Given the description of an element on the screen output the (x, y) to click on. 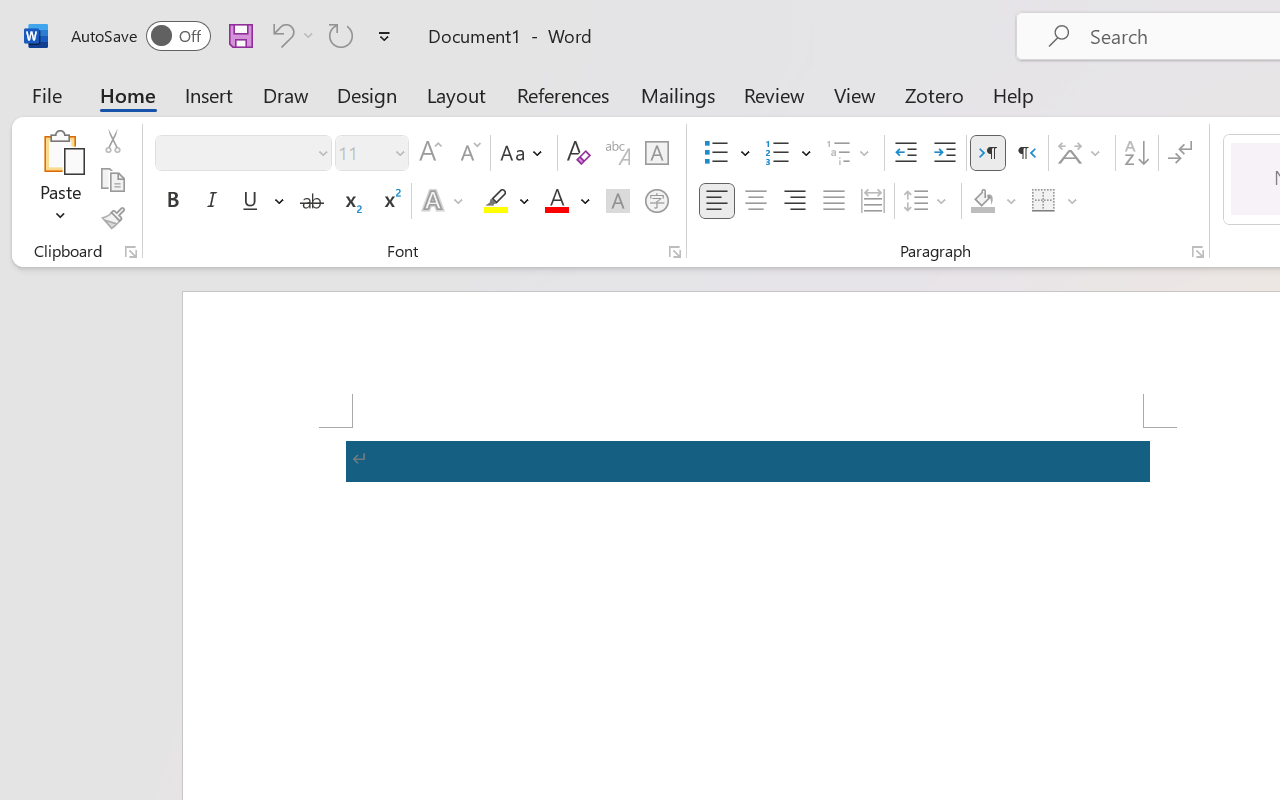
Undo Apply Quick Style Set (280, 35)
Left-to-Right (988, 153)
